Given the description of an element on the screen output the (x, y) to click on. 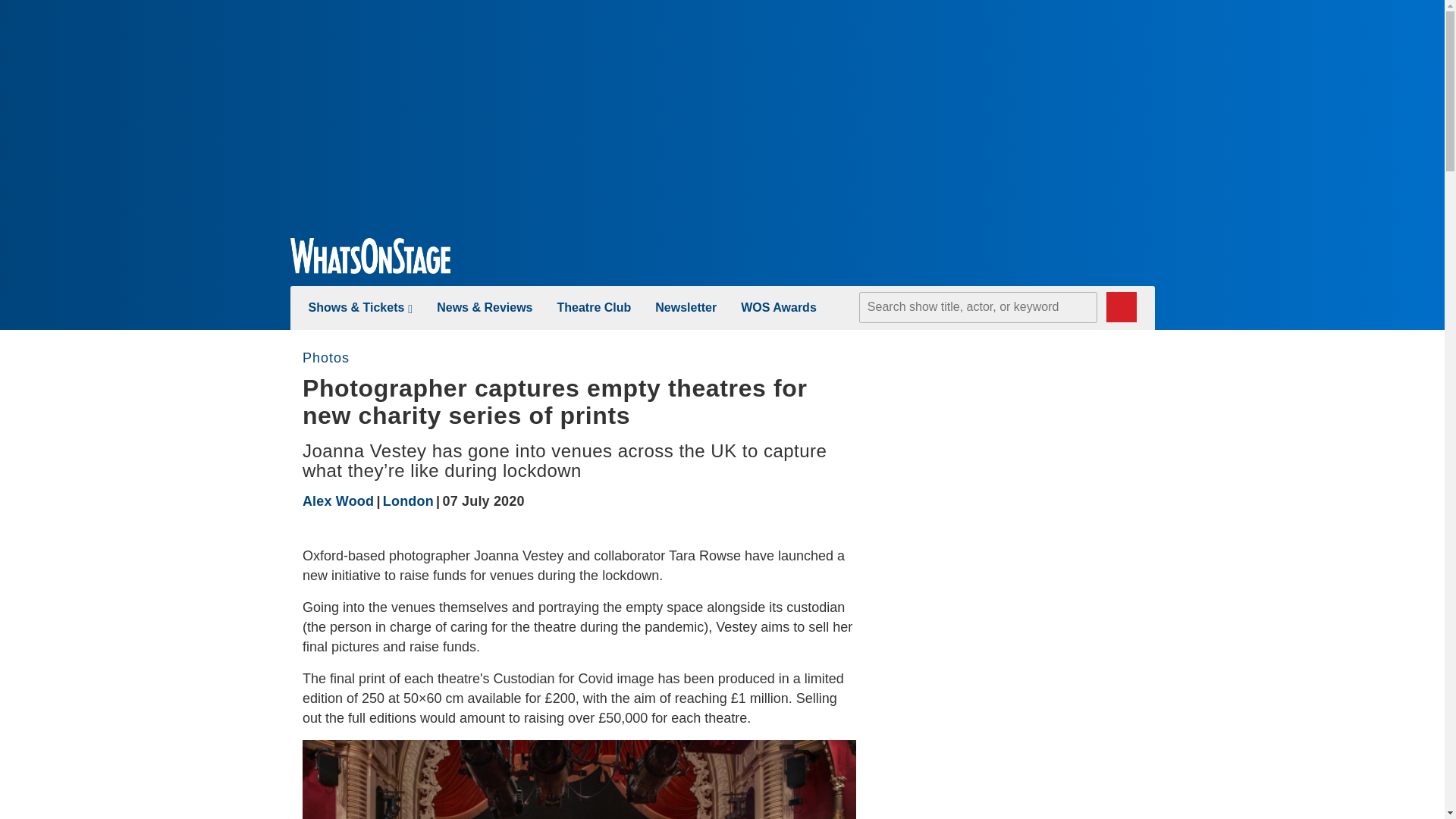
new-and-reviews-link (484, 307)
Theatre Club (593, 307)
WOS Awards (778, 307)
3rd party ad content (1040, 579)
Newsletter (685, 307)
